Given the description of an element on the screen output the (x, y) to click on. 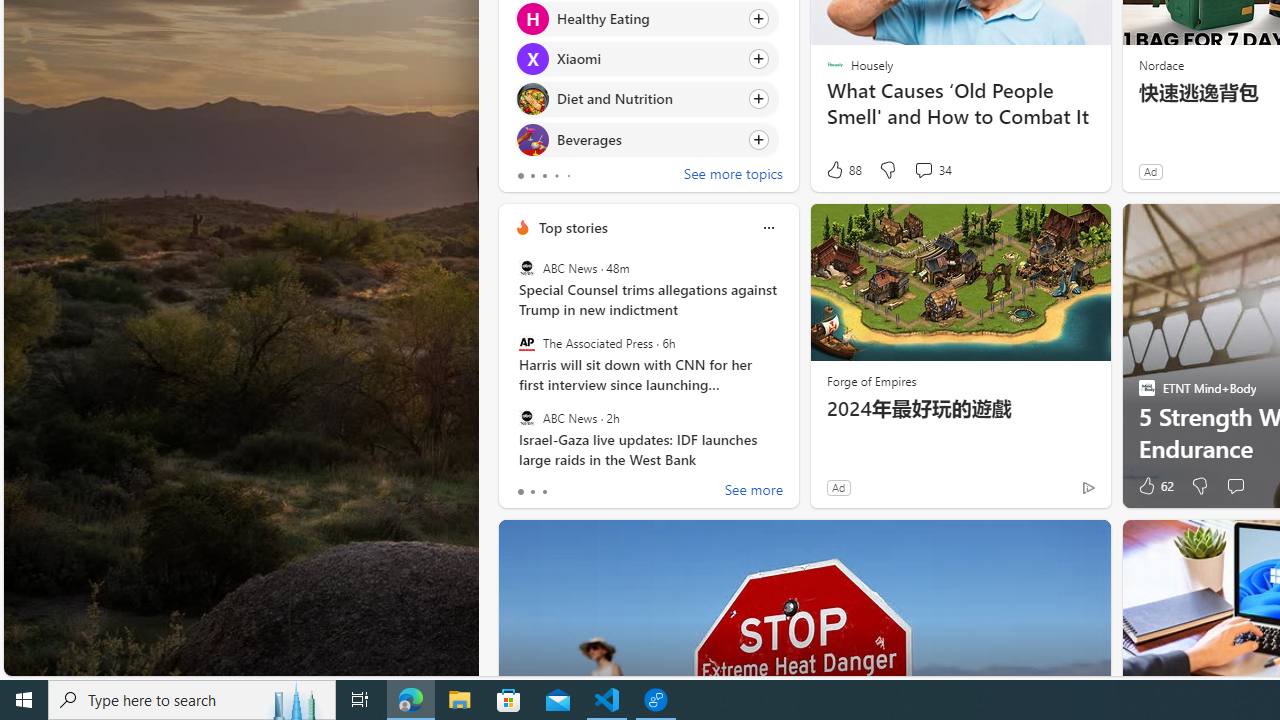
tab-2 (543, 491)
88 Like (843, 170)
Top stories (572, 227)
Diet and Nutrition (532, 98)
62 Like (1154, 485)
Click to follow topic Beverages (646, 138)
